Given the description of an element on the screen output the (x, y) to click on. 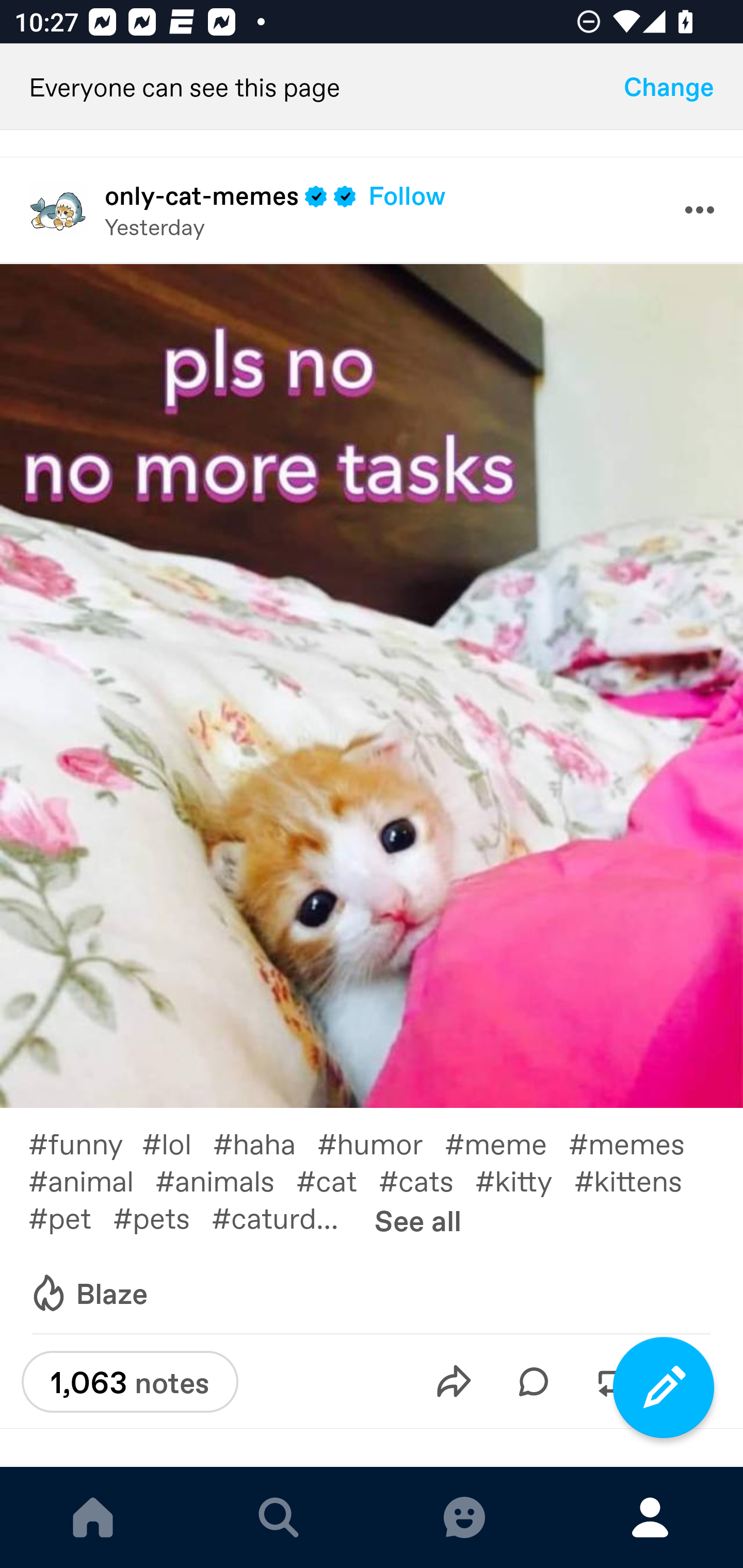
Change (669, 86)
Follow (406, 194)
#funny (84, 1142)
#lol (177, 1142)
#haha (265, 1142)
#humor (381, 1142)
#meme (506, 1142)
#memes (637, 1142)
#animal (91, 1179)
#animals (225, 1179)
#cat (337, 1179)
#cats (426, 1179)
#kitty (524, 1179)
#kittens (638, 1179)
#pet (70, 1216)
#pets (161, 1216)
#caturd… (285, 1216)
See all (417, 1219)
Blaze Blaze Blaze (88, 1293)
Share post to message (454, 1381)
Reply (533, 1381)
Compose a new post (663, 1387)
1,063 notes (129, 1381)
DASHBOARD (92, 1517)
EXPLORE (278, 1517)
MESSAGES (464, 1517)
ACCOUNT (650, 1517)
